Given the description of an element on the screen output the (x, y) to click on. 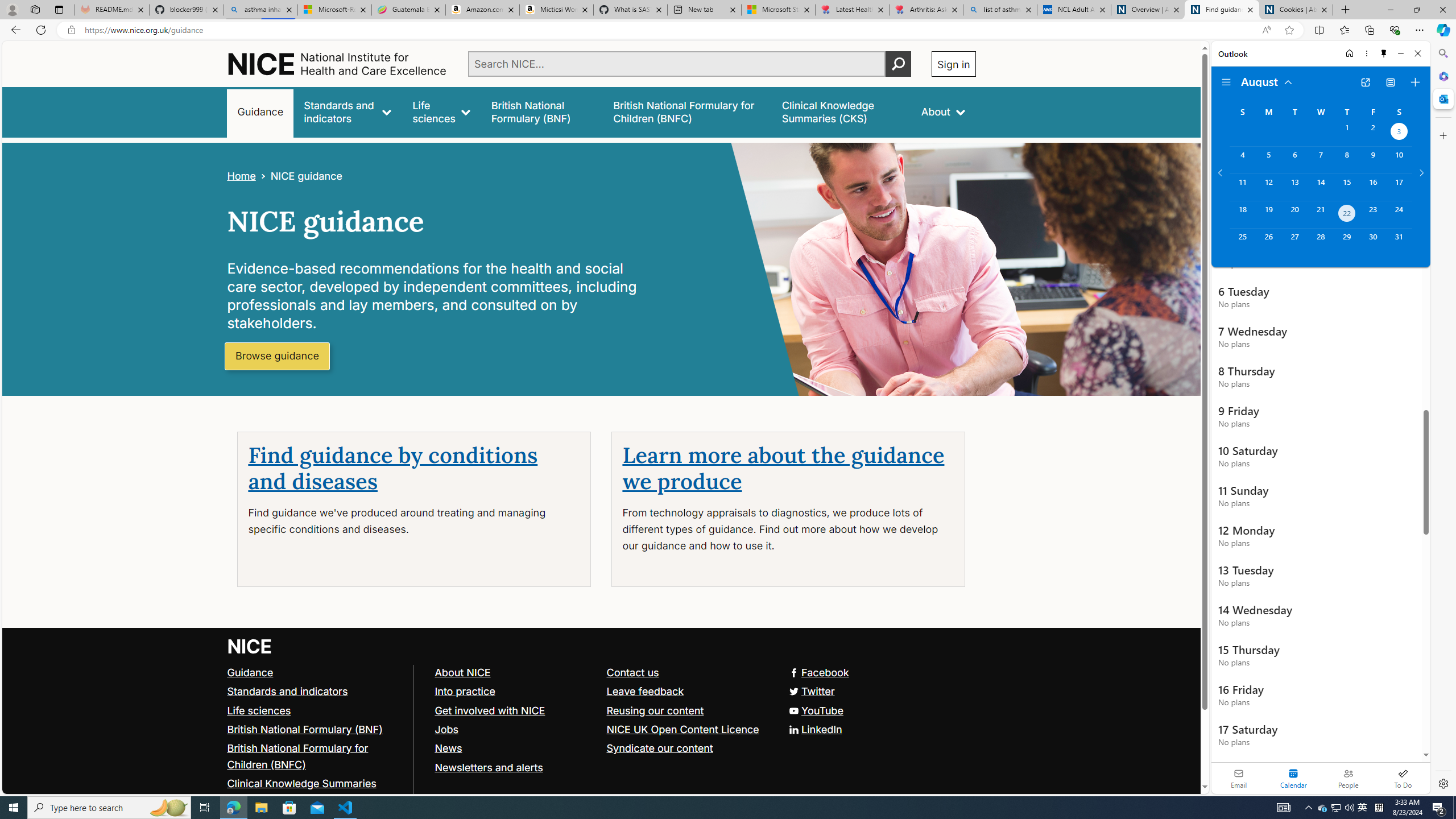
Friday, August 23, 2024.  (1372, 214)
Thursday, August 8, 2024.  (1346, 159)
About (942, 111)
Leave feedback (686, 691)
Newsletters and alerts (488, 766)
false (841, 111)
Friday, August 30, 2024.  (1372, 241)
NICE UK Open Content Licence (681, 729)
Home (241, 176)
Life sciences (315, 710)
Monday, August 5, 2024.  (1268, 159)
